Given the description of an element on the screen output the (x, y) to click on. 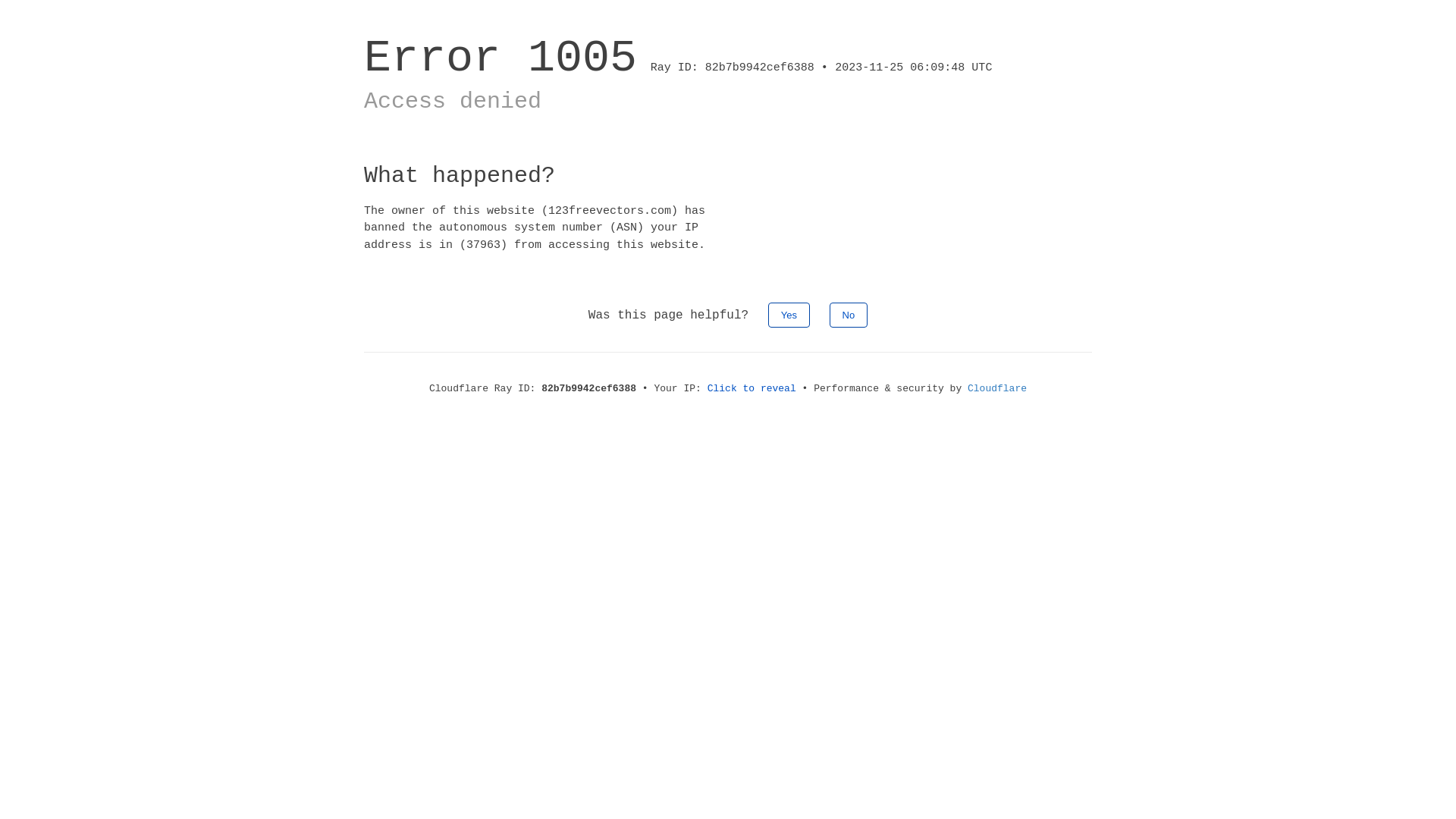
Cloudflare Element type: text (996, 388)
No Element type: text (848, 314)
Yes Element type: text (788, 314)
Click to reveal Element type: text (751, 388)
